Given the description of an element on the screen output the (x, y) to click on. 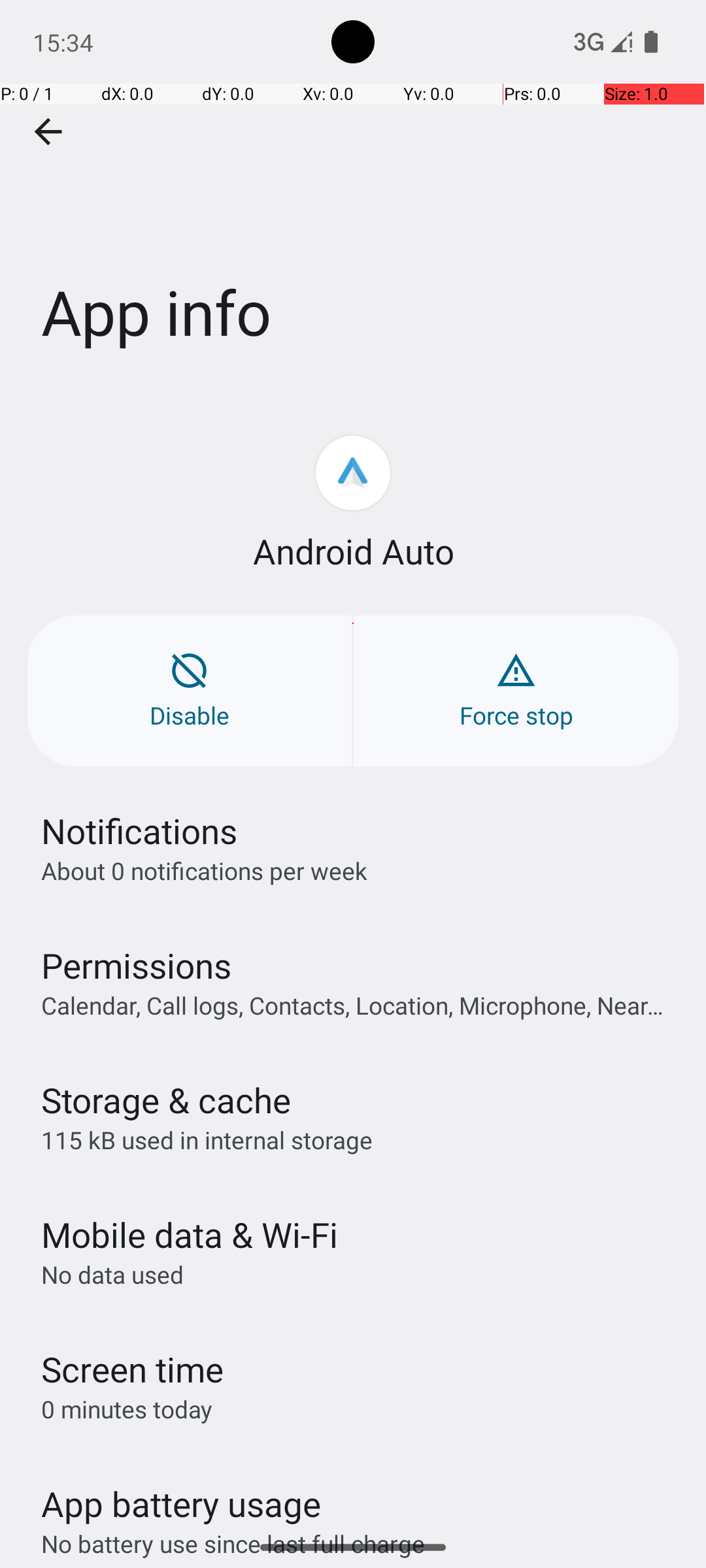
Calendar, Call logs, Contacts, Location, Microphone, Nearby devices, Notifications, Phone, and SMS Element type: android.widget.TextView (359, 1004)
115 kB used in internal storage Element type: android.widget.TextView (206, 1139)
0 minutes today Element type: android.widget.TextView (127, 1408)
